Given the description of an element on the screen output the (x, y) to click on. 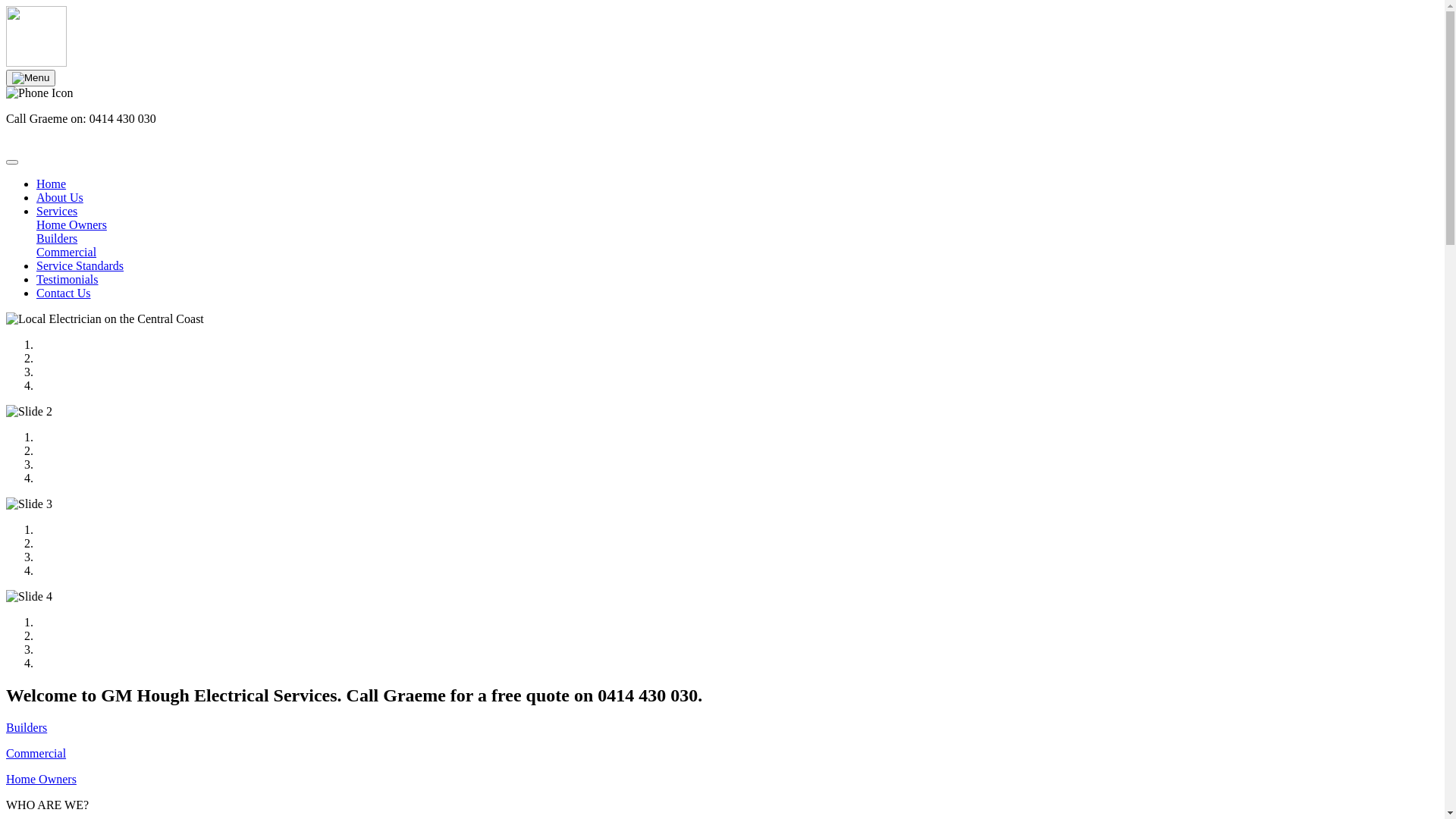
Home Owners Element type: text (41, 778)
Slide 4 Element type: hover (29, 596)
Slide 1 Element type: hover (104, 319)
Contact Us Element type: text (63, 292)
Services Element type: text (56, 210)
Commercial Element type: text (737, 252)
Testimonials Element type: text (67, 279)
About Us Element type: text (59, 197)
Service Standards Element type: text (79, 265)
Builders Element type: text (26, 727)
Home Element type: text (50, 183)
Commercial Element type: text (35, 752)
Slide 3 Element type: hover (29, 504)
Builders Element type: text (737, 238)
Slide 2 Element type: hover (29, 411)
Home Owners Element type: text (737, 225)
